Given the description of an element on the screen output the (x, y) to click on. 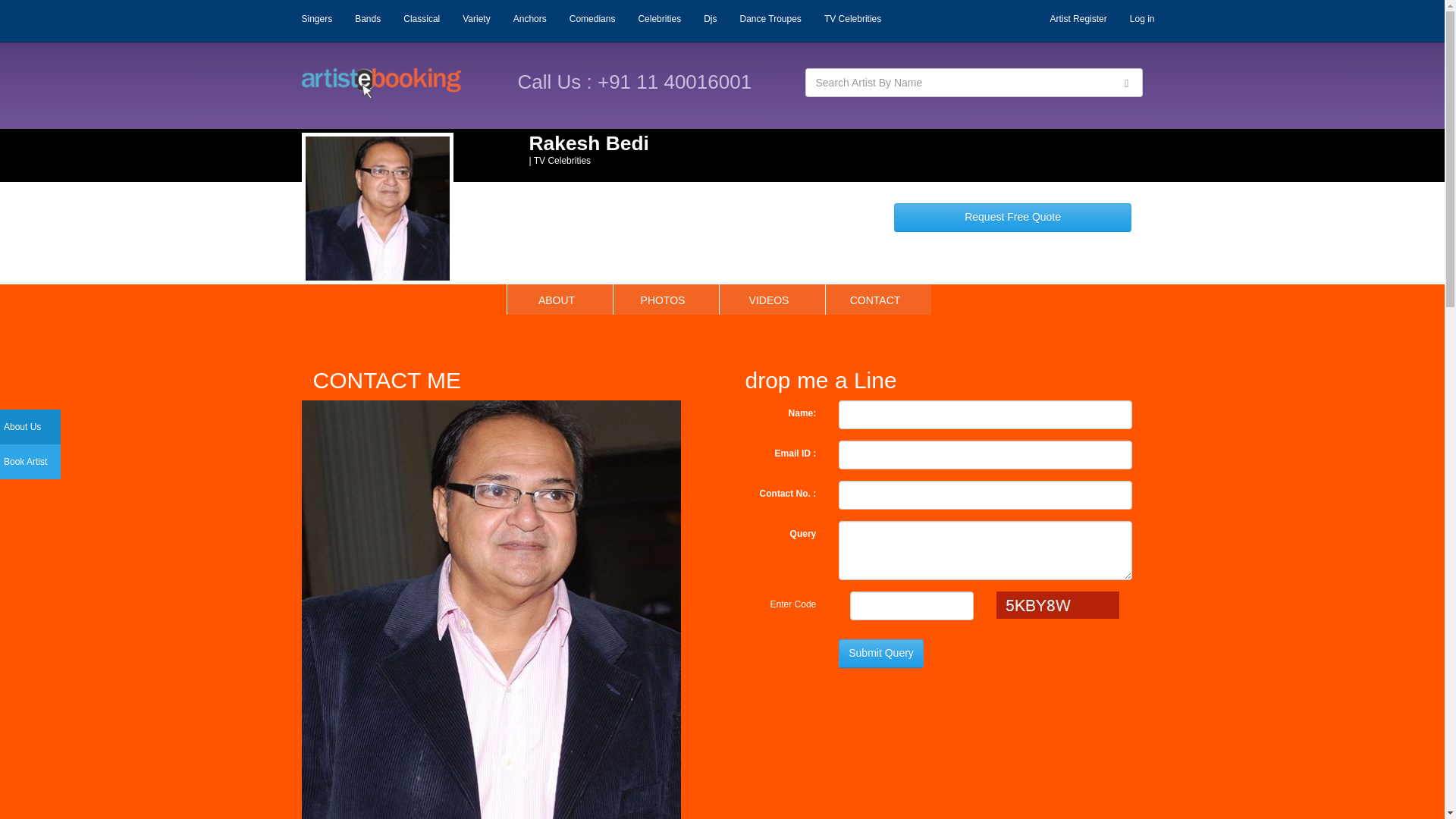
Classical (421, 18)
About Us (30, 426)
Variety (475, 18)
Bands (367, 18)
Book Artist (30, 461)
Singers (316, 18)
Anchors (529, 18)
Submit Query (880, 653)
